Given the description of an element on the screen output the (x, y) to click on. 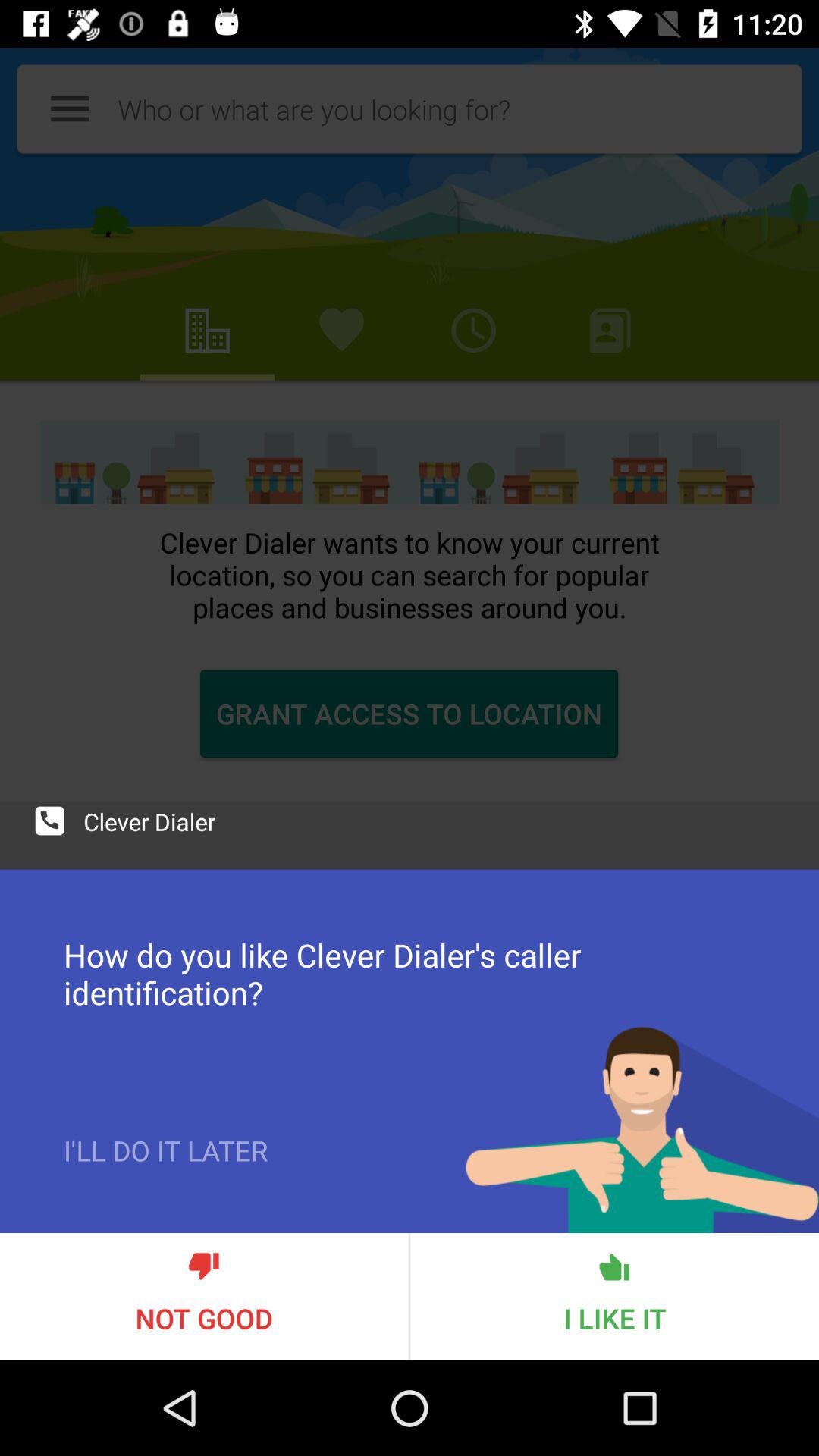
turn off icon above the not good item (165, 1182)
